Given the description of an element on the screen output the (x, y) to click on. 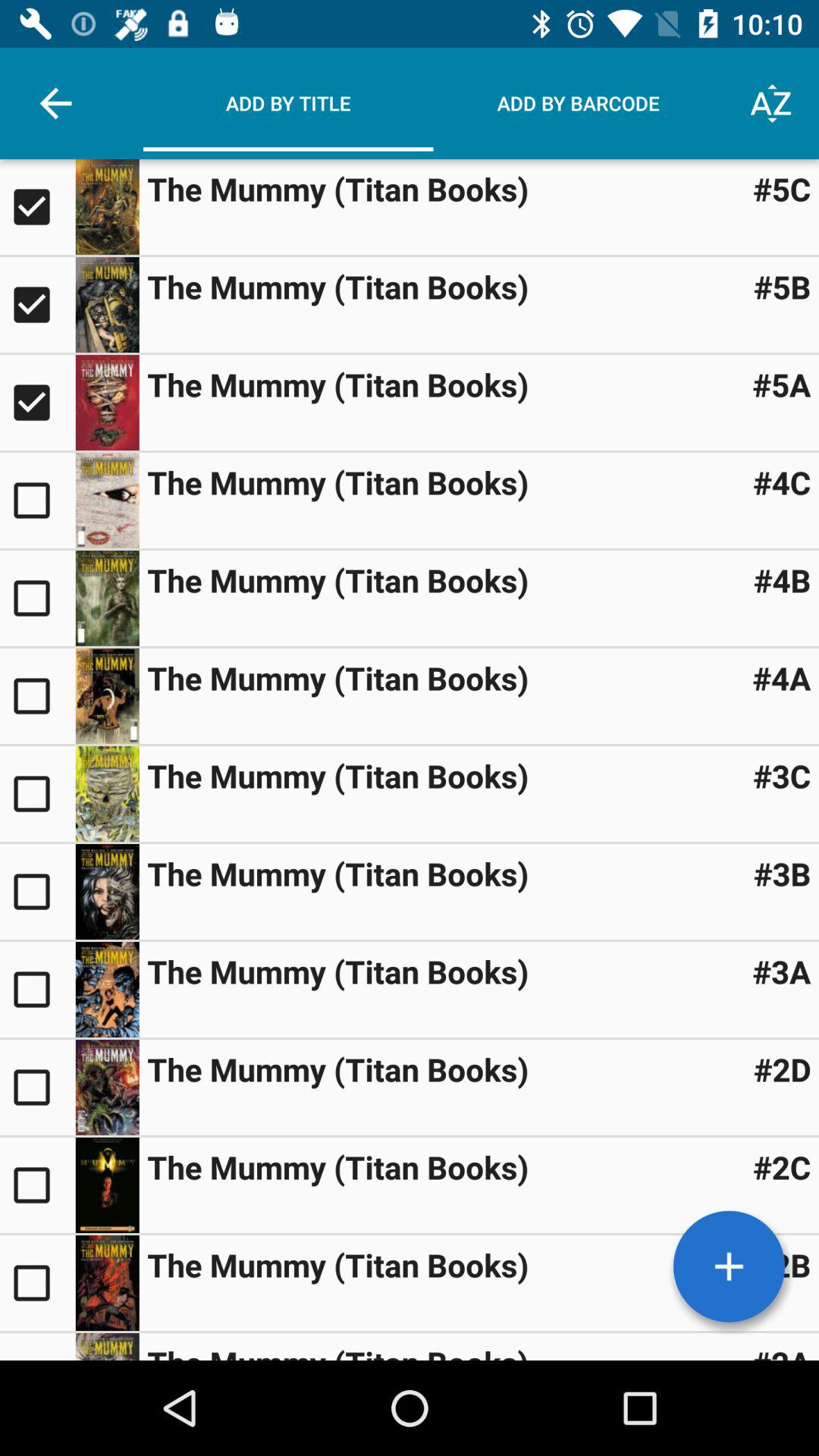
open book (37, 793)
